Given the description of an element on the screen output the (x, y) to click on. 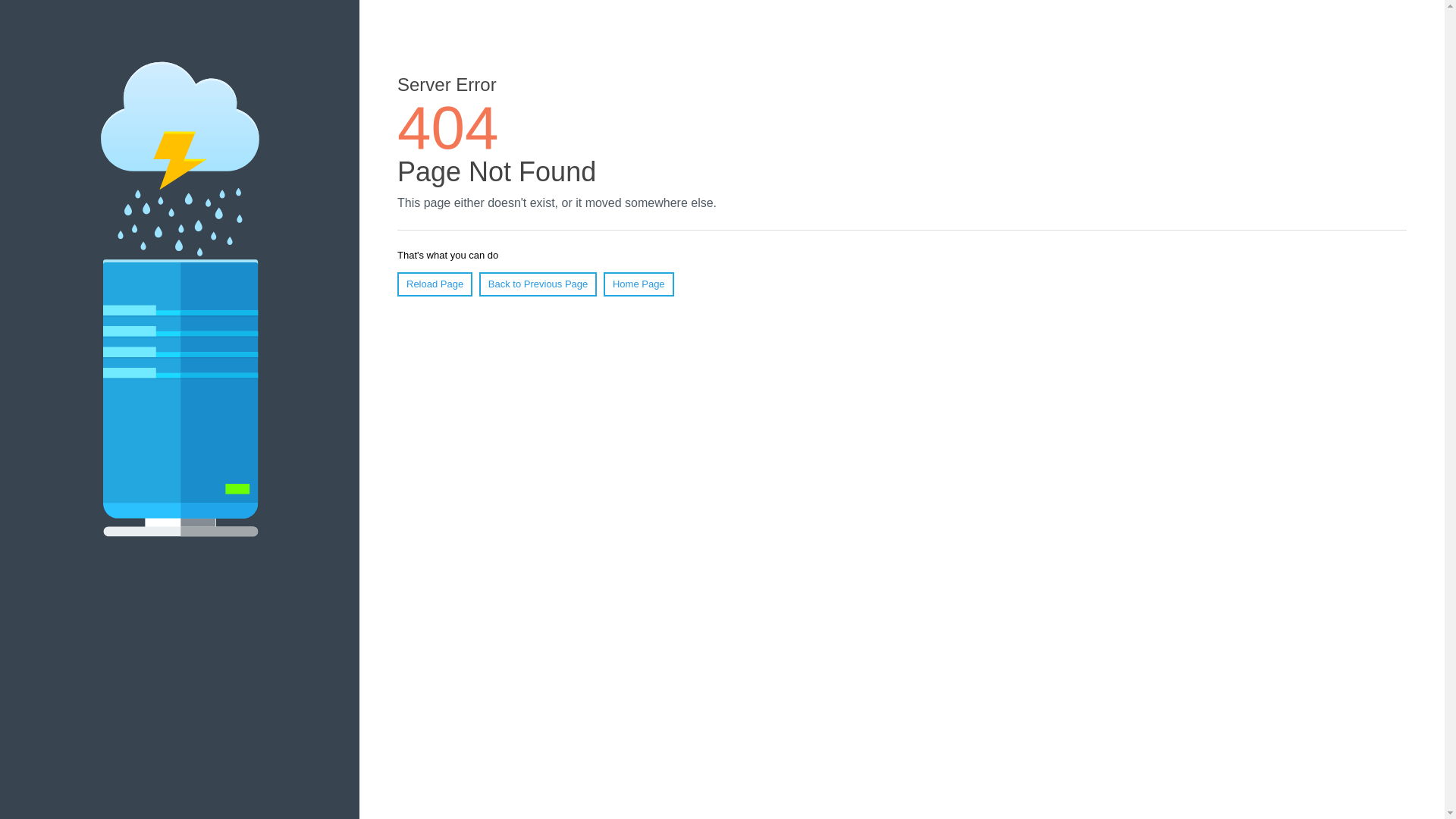
Back to Previous Page Element type: text (538, 284)
Reload Page Element type: text (434, 284)
Home Page Element type: text (638, 284)
